Given the description of an element on the screen output the (x, y) to click on. 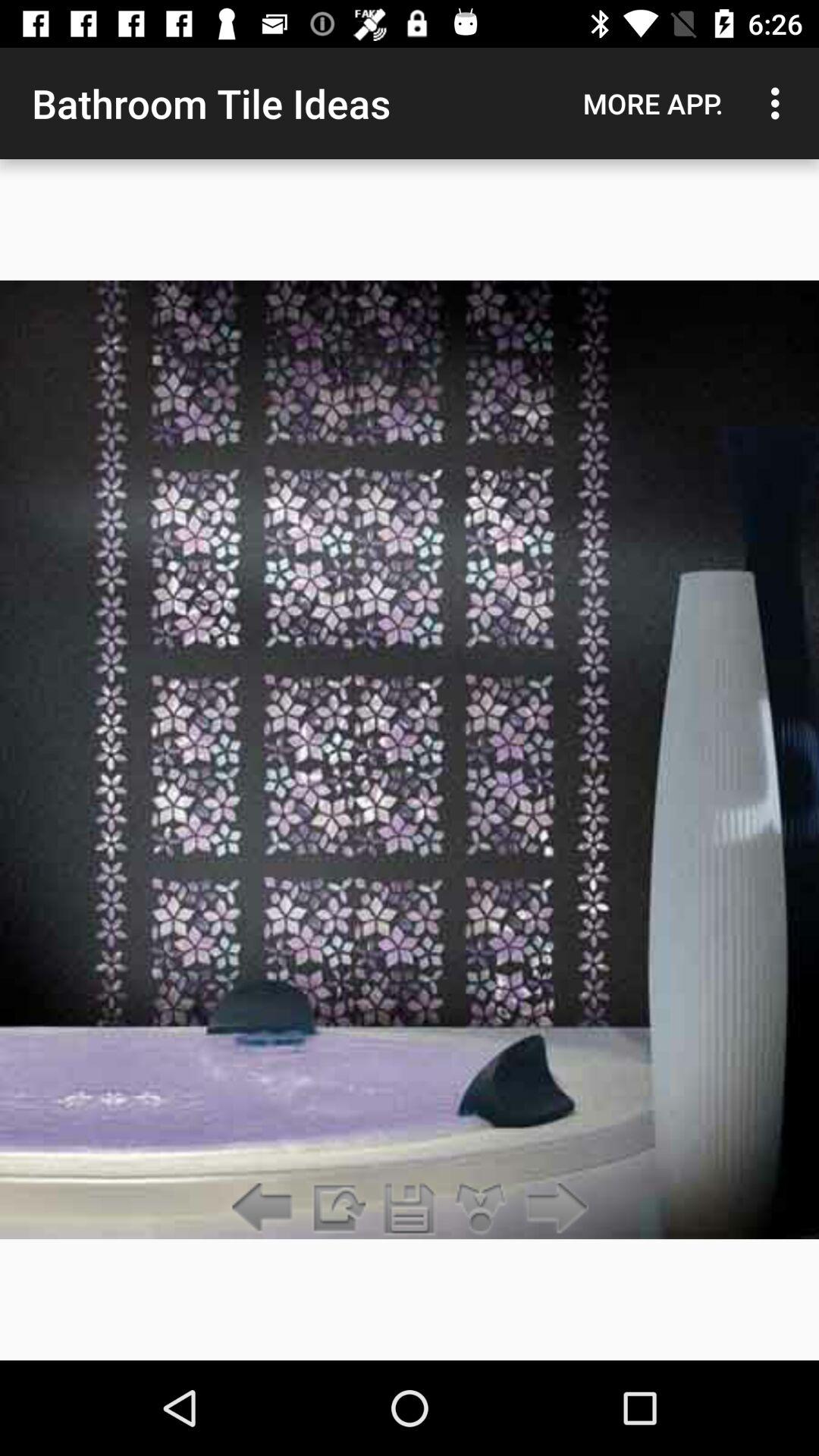
next page (552, 1209)
